Given the description of an element on the screen output the (x, y) to click on. 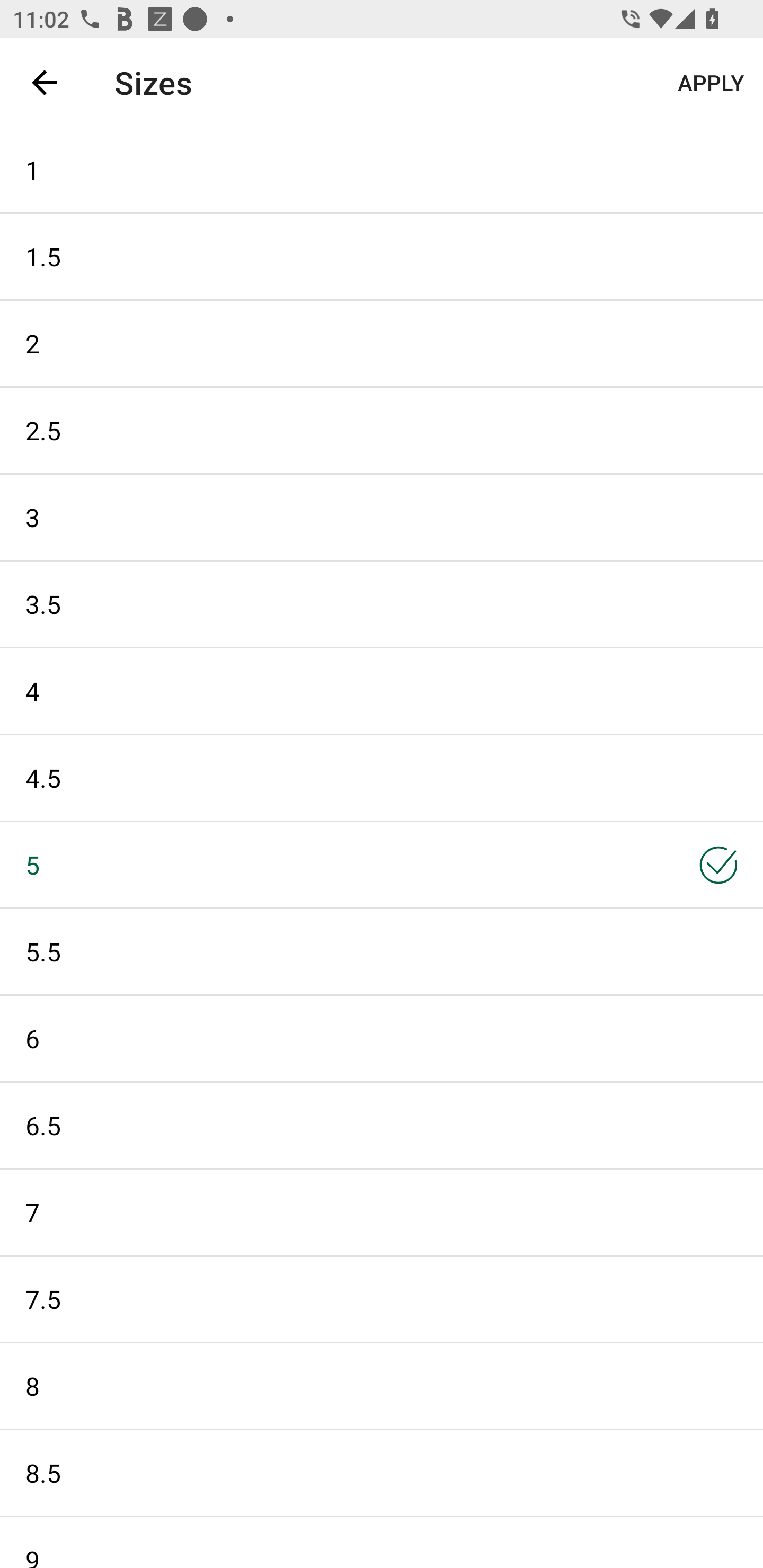
flats (370, 82)
1 (381, 169)
1.5 (381, 256)
2 (381, 343)
2.5 (381, 430)
3 (381, 517)
3.5 (381, 603)
4 (381, 691)
4.5 (381, 777)
5 Next (381, 864)
5.5 (381, 951)
6 (381, 1038)
6.5 (381, 1125)
7 (381, 1211)
7.5 (381, 1298)
8 (381, 1385)
8.5 (381, 1473)
9 (381, 1542)
